Given the description of an element on the screen output the (x, y) to click on. 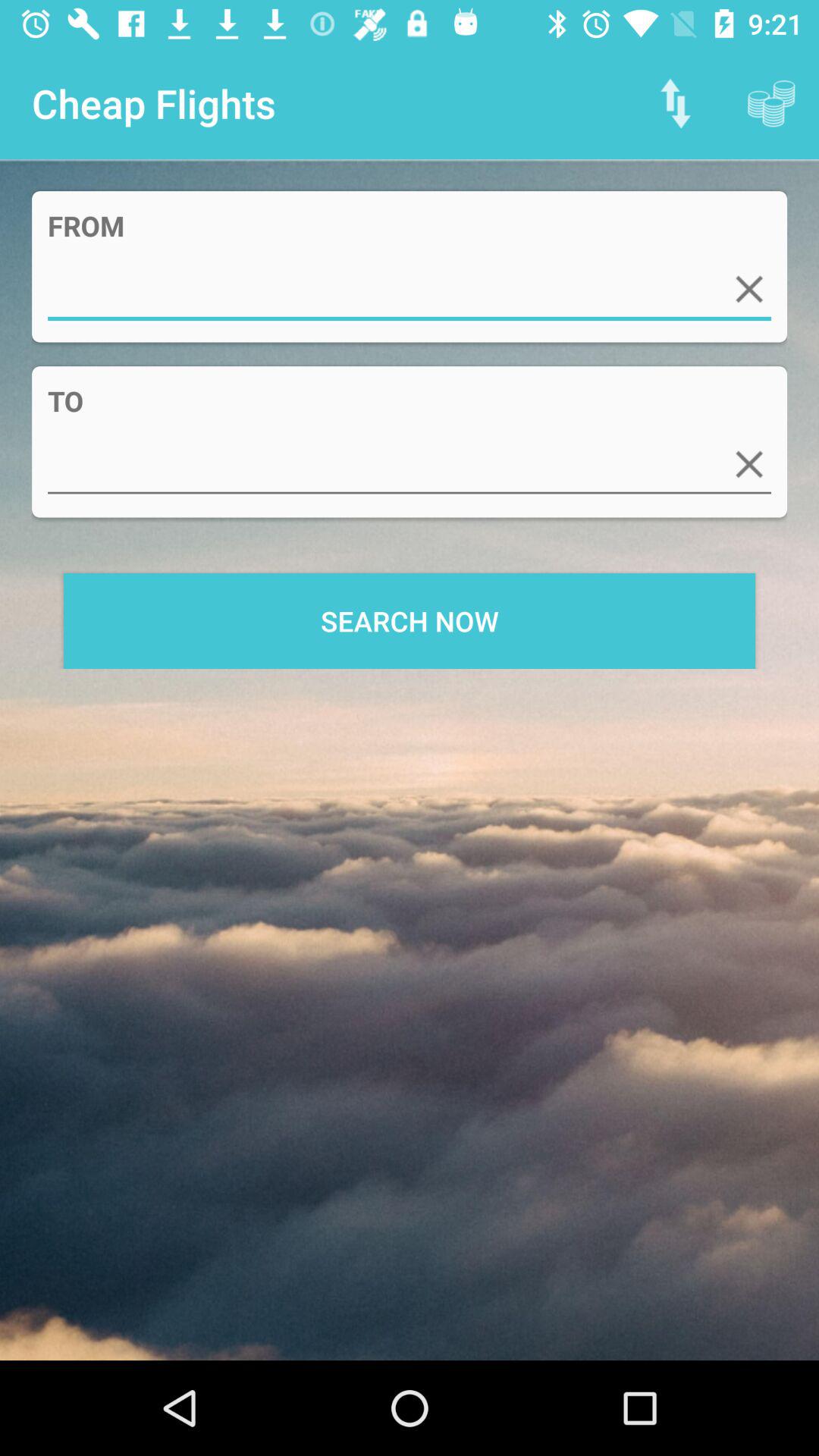
close option (749, 464)
